Given the description of an element on the screen output the (x, y) to click on. 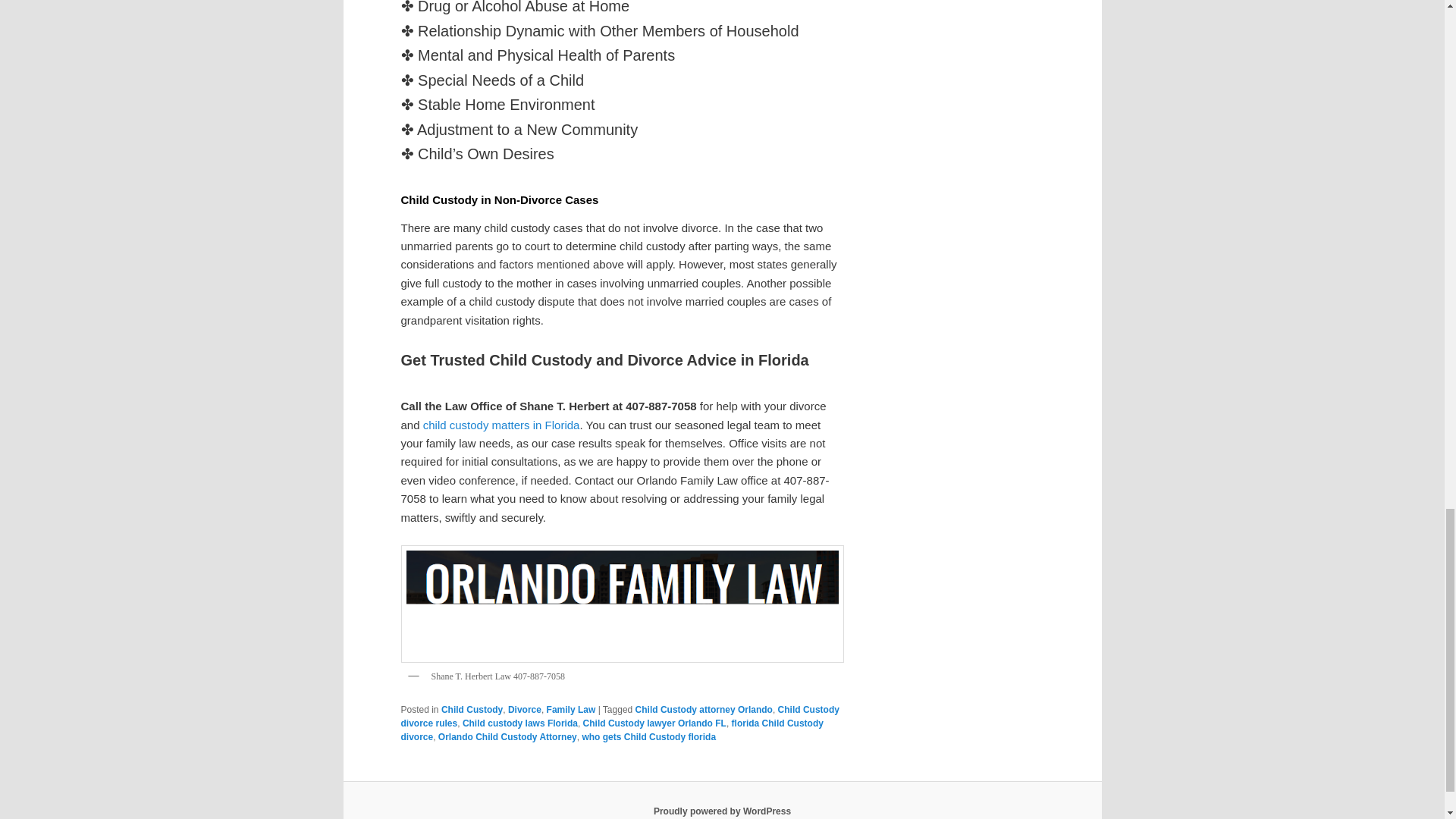
Child Custody divorce rules (619, 716)
Semantic Personal Publishing Platform (721, 810)
Family Law (571, 709)
Divorce (524, 709)
Child Custody (471, 709)
Child Custody attorney Orlando (703, 709)
Child Custody lawyer Orlando FL (654, 723)
florida Child Custody divorce (611, 730)
Orlando Child Custody Attorney (507, 737)
child custody matters in Florida (501, 424)
